Given the description of an element on the screen output the (x, y) to click on. 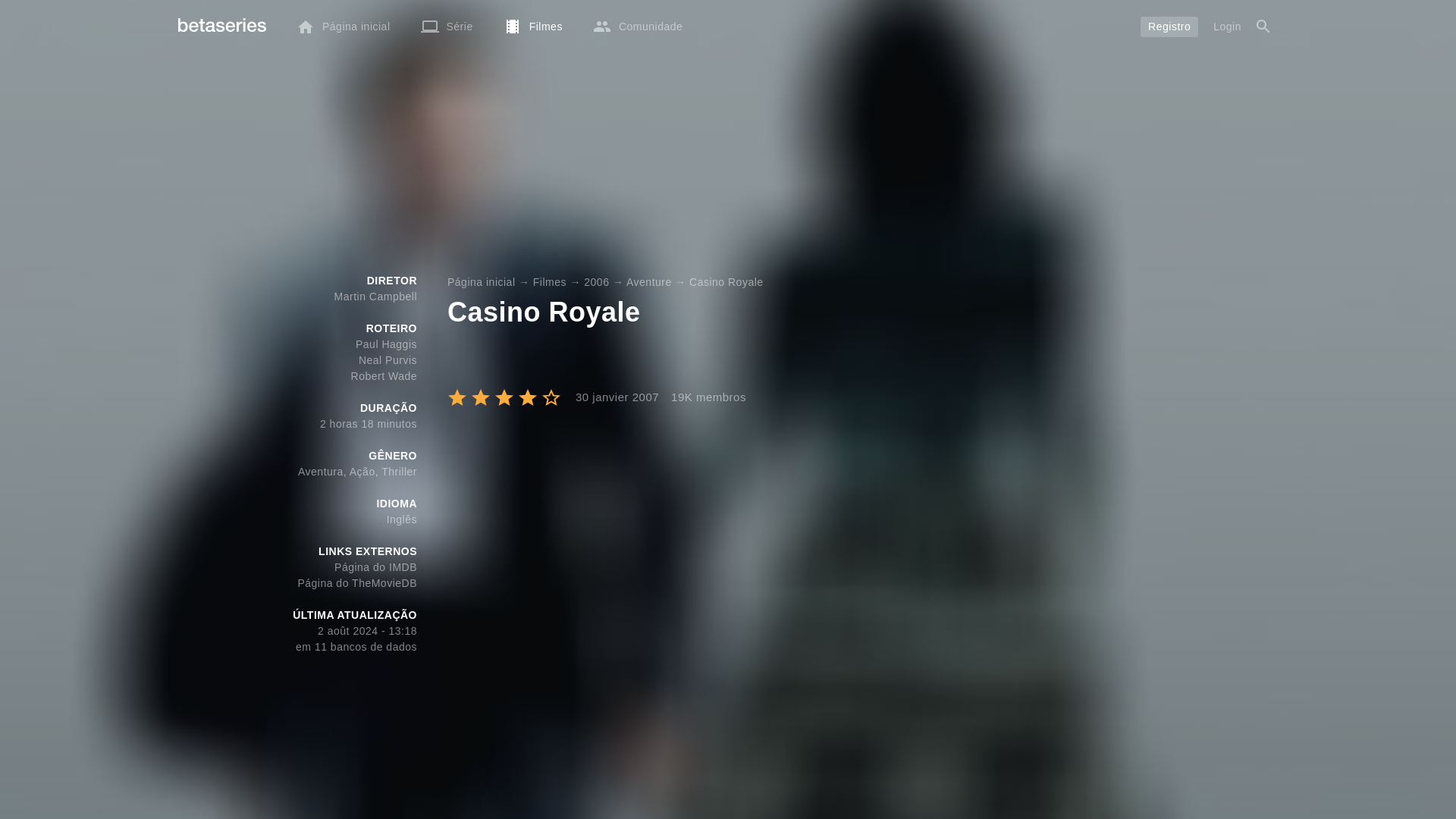
Comunidade (637, 26)
Casino Royale (725, 282)
Login (1227, 26)
Robert Wade (383, 376)
Filmes (549, 282)
2006 (595, 282)
Registro (1169, 26)
Neal Purvis (387, 359)
Paul Haggis (385, 344)
Martin Campbell (375, 296)
